Given the description of an element on the screen output the (x, y) to click on. 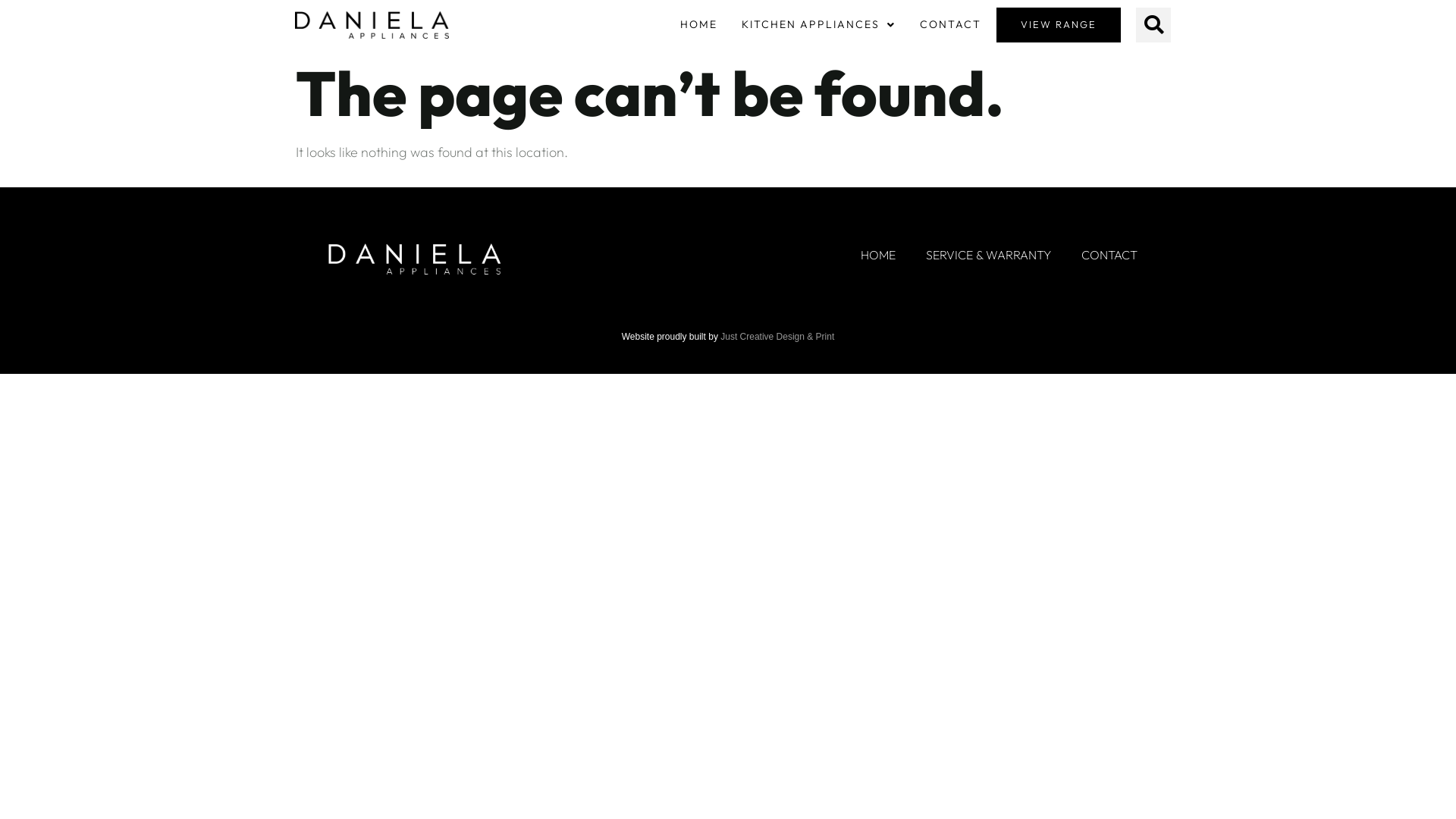
HOME Element type: text (877, 254)
SERVICE & WARRANTY Element type: text (988, 254)
CONTACT Element type: text (950, 24)
KITCHEN APPLIANCES Element type: text (818, 24)
HOME Element type: text (698, 24)
VIEW RANGE Element type: text (1058, 24)
Just Creative Design & Print Element type: text (777, 336)
CONTACT Element type: text (1109, 254)
